Given the description of an element on the screen output the (x, y) to click on. 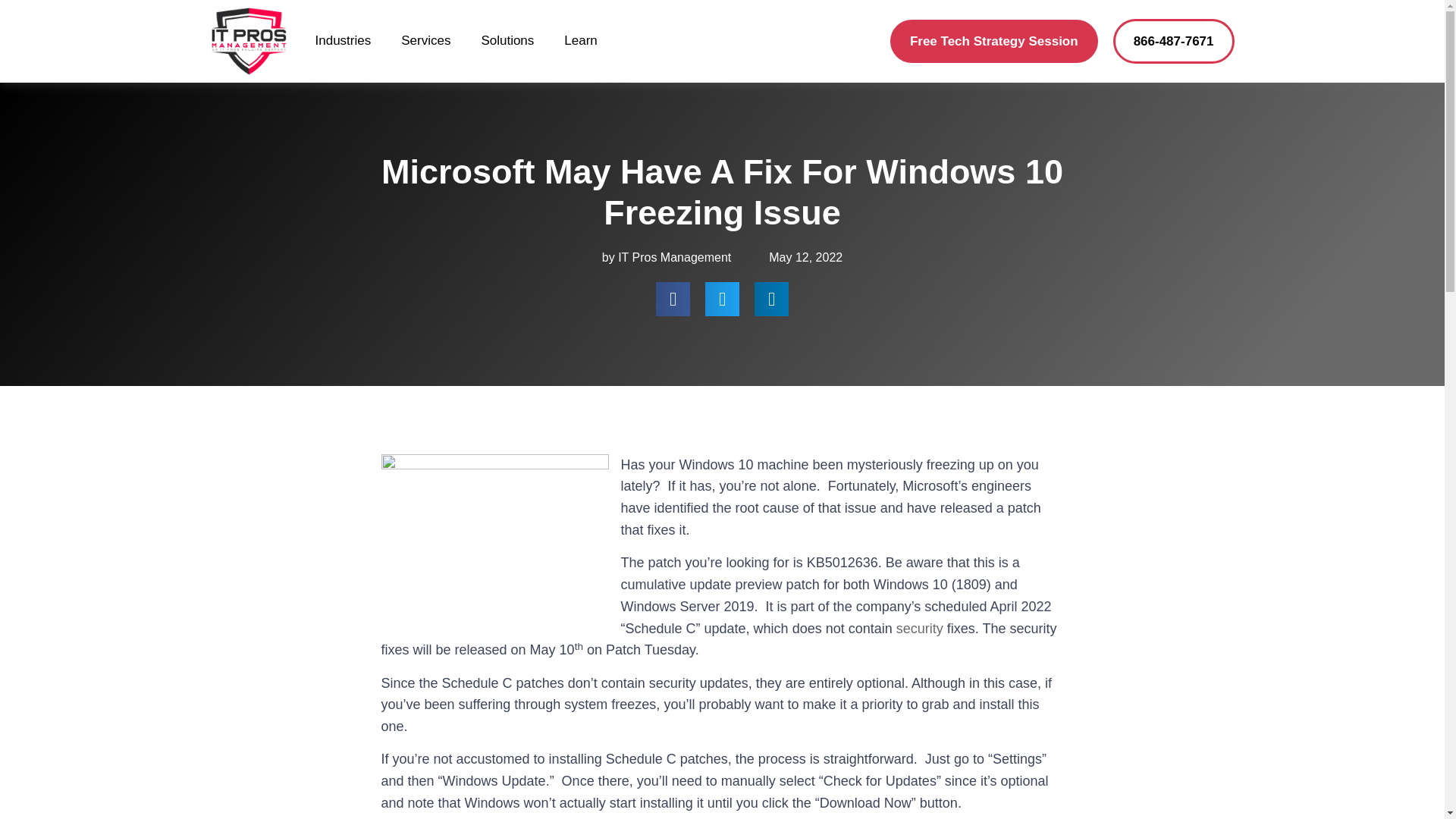
Solutions (507, 40)
Industries (343, 40)
Services (425, 40)
Learn (580, 40)
Cybersecurity (919, 628)
